Given the description of an element on the screen output the (x, y) to click on. 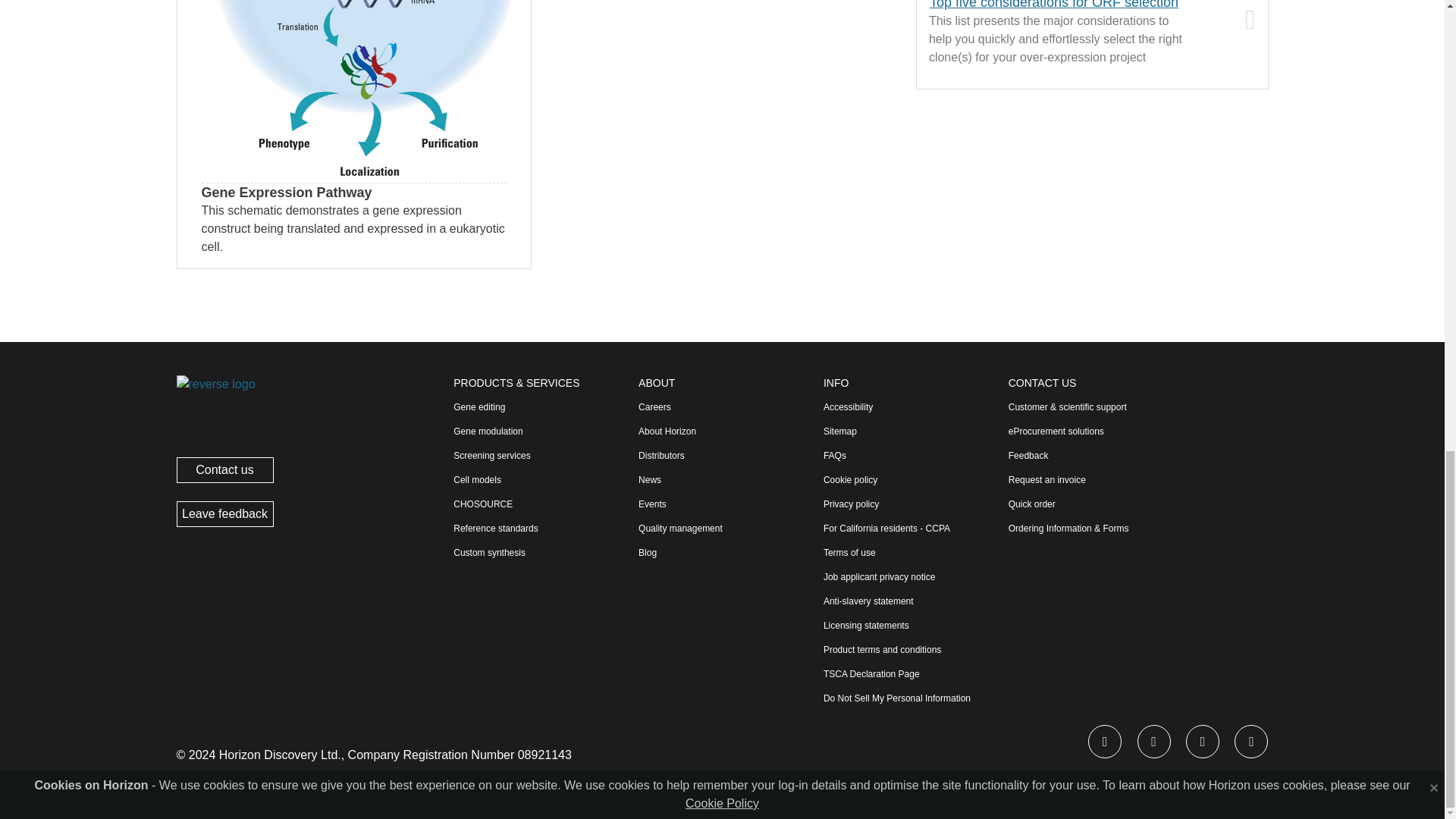
Gene Expression Pathway (354, 91)
